Given the description of an element on the screen output the (x, y) to click on. 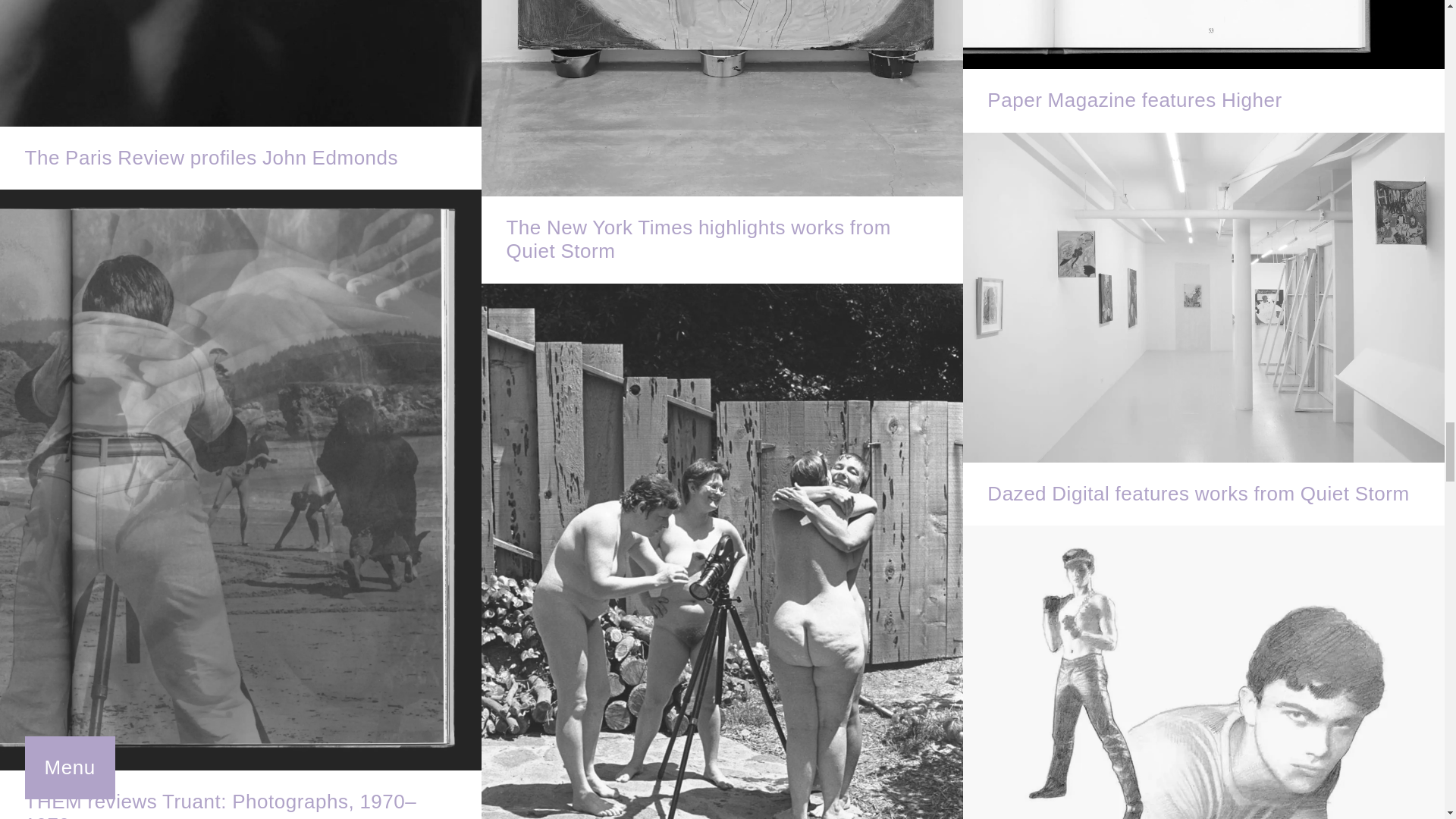
The Paris Review profiles John Edmonds (240, 94)
